Given the description of an element on the screen output the (x, y) to click on. 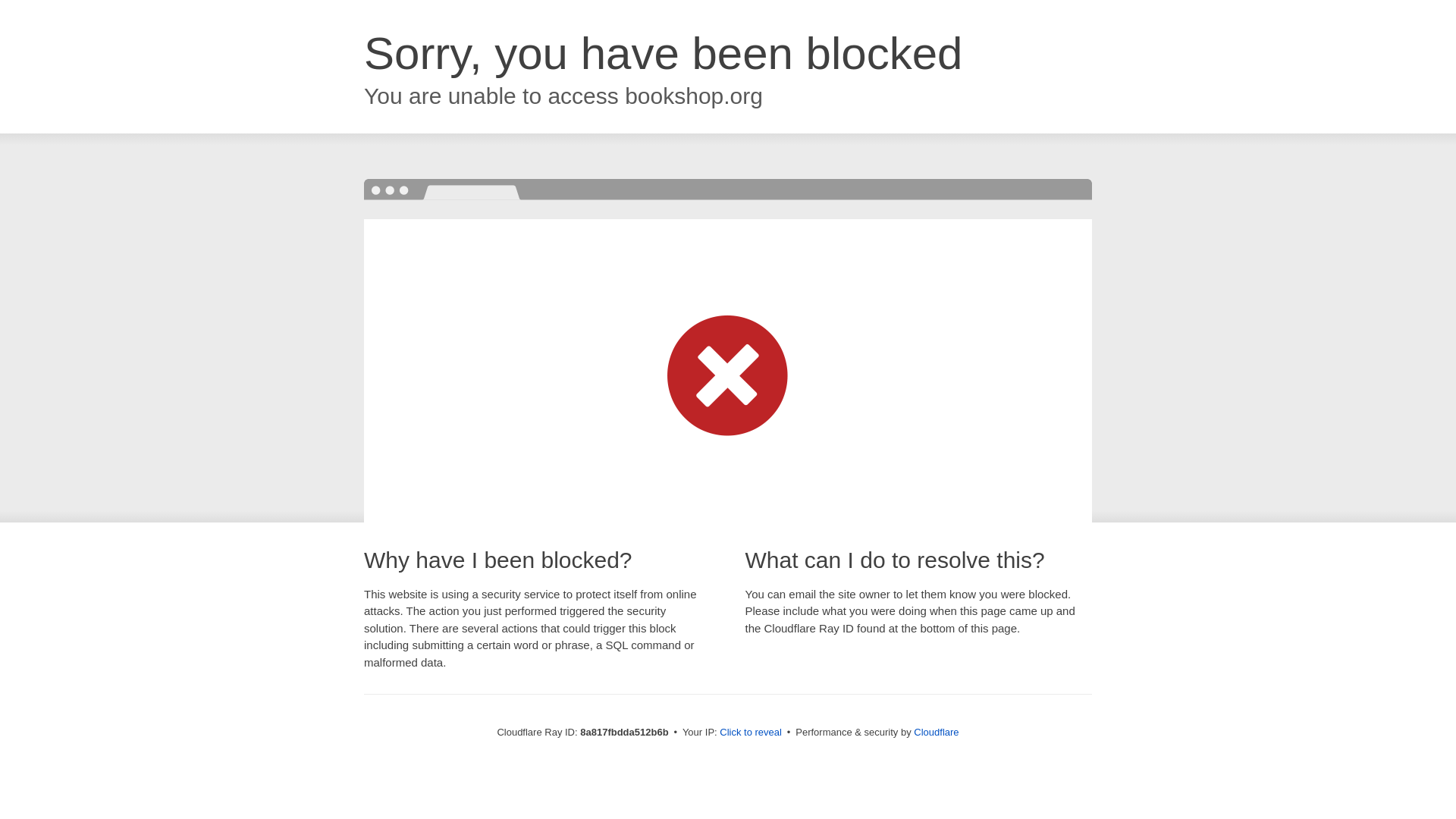
Click to reveal (750, 732)
Cloudflare (936, 731)
